Given the description of an element on the screen output the (x, y) to click on. 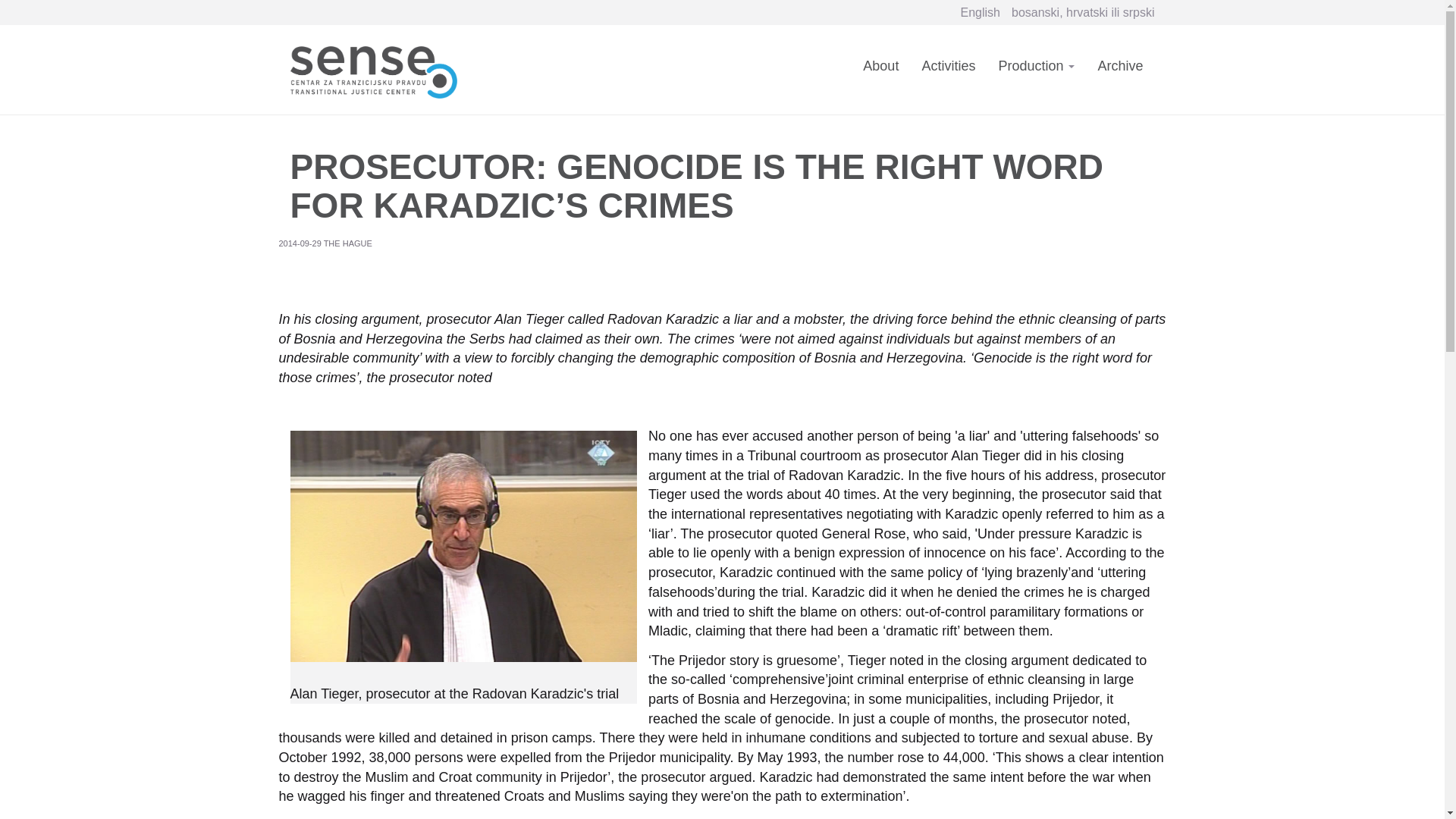
Home (130, 57)
Toggle navigation (51, 73)
Documentaries (102, 205)
About production (109, 178)
Interactive narratives (117, 192)
bosanski, hrvatski ili srpski (102, 31)
About the SENSE Center (51, 137)
Production (62, 164)
Alan Tieger, prosecutor at the Radovan Karadzic's trial (144, 486)
About (51, 137)
Home (27, 57)
Activities (59, 151)
Archive (55, 233)
Sense Transitional Justice Center (130, 57)
